Given the description of an element on the screen output the (x, y) to click on. 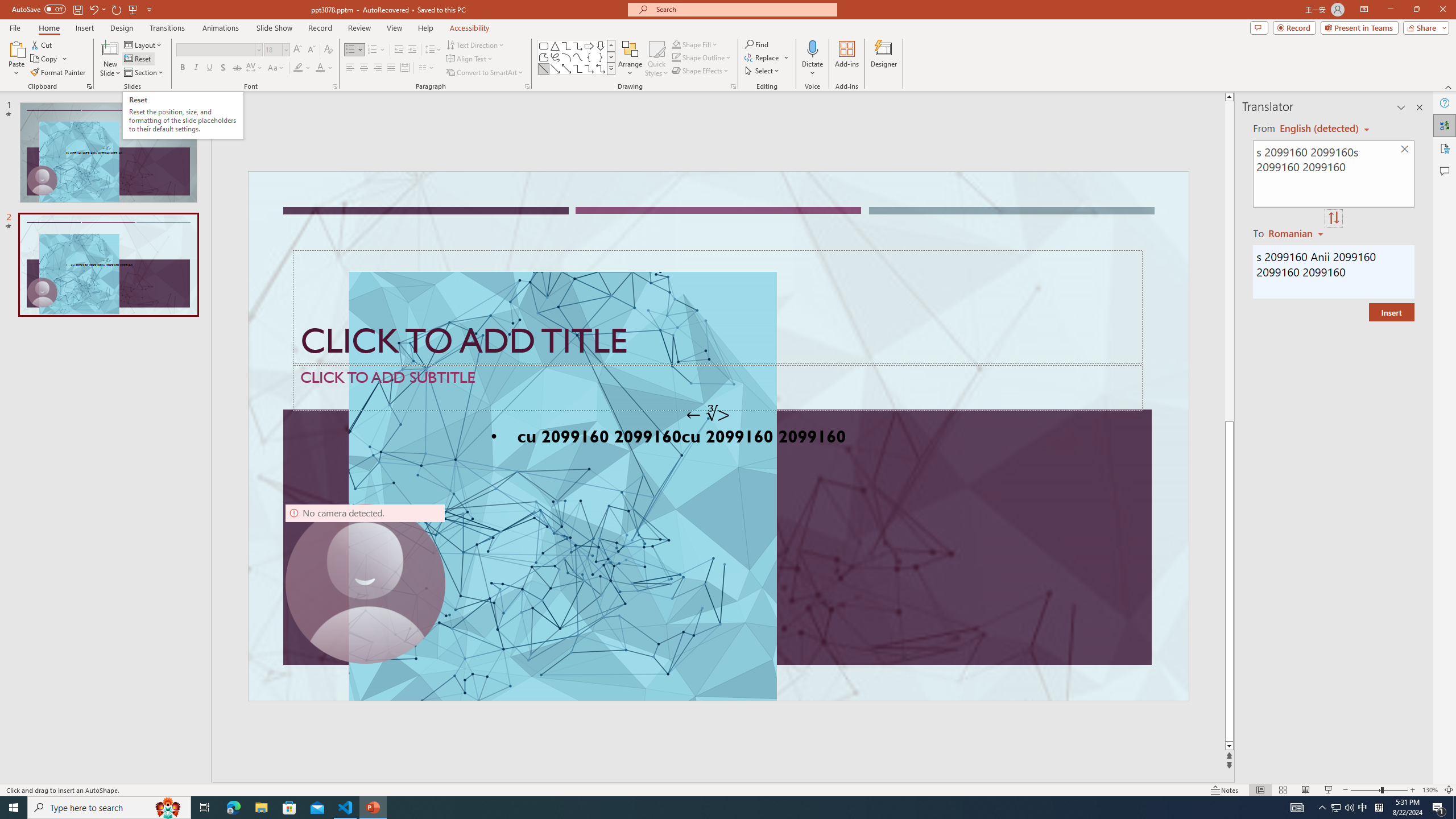
Close Dialog (644, 387)
main.py (751, 183)
